Given the description of an element on the screen output the (x, y) to click on. 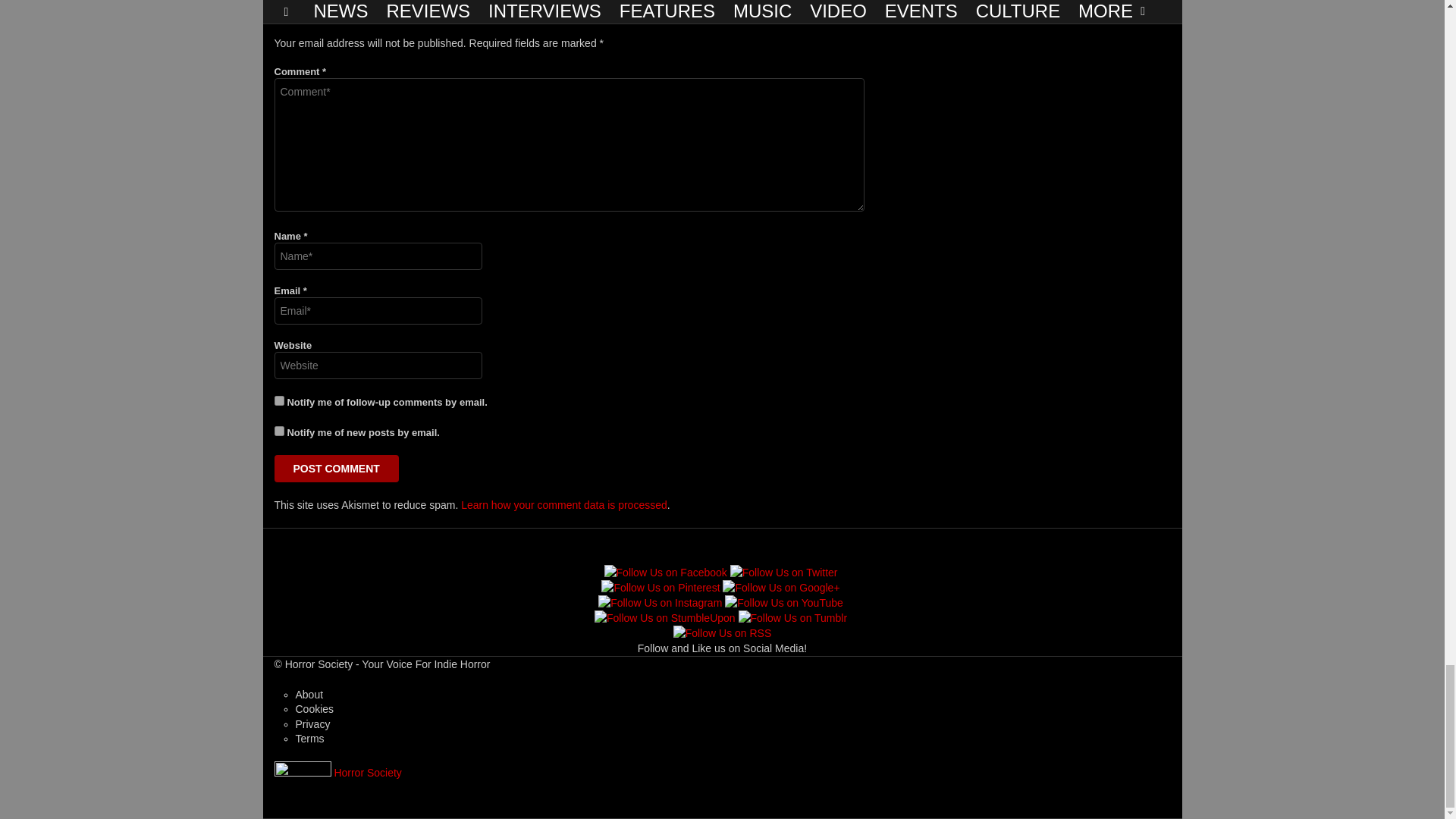
subscribe (279, 400)
Post Comment (336, 468)
subscribe (279, 430)
